Given the description of an element on the screen output the (x, y) to click on. 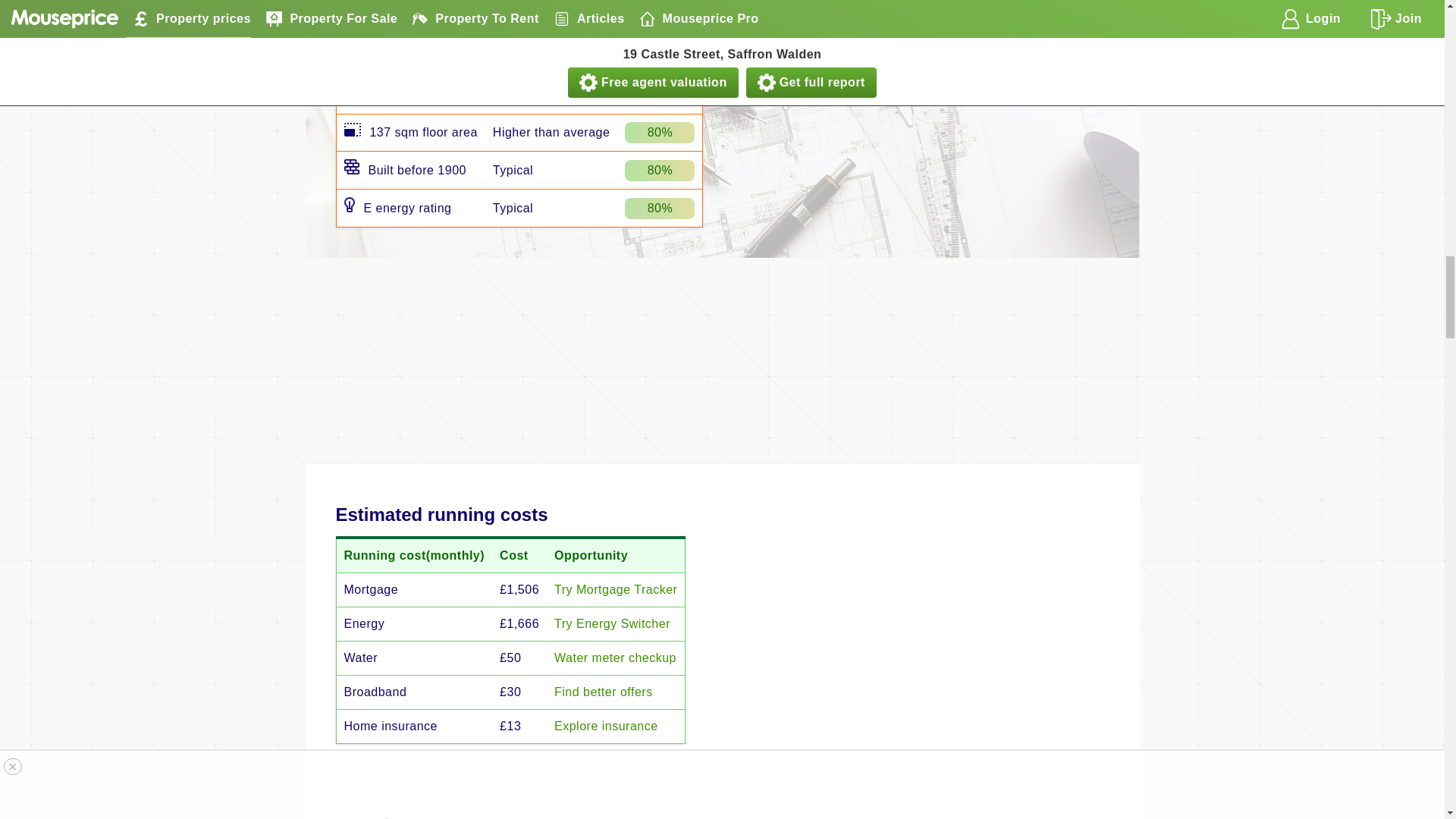
Find better offers (603, 691)
Water meter checkup (615, 657)
Try Mortgage Tracker (615, 589)
Explore insurance (606, 725)
Try Energy Switcher (611, 623)
